Given the description of an element on the screen output the (x, y) to click on. 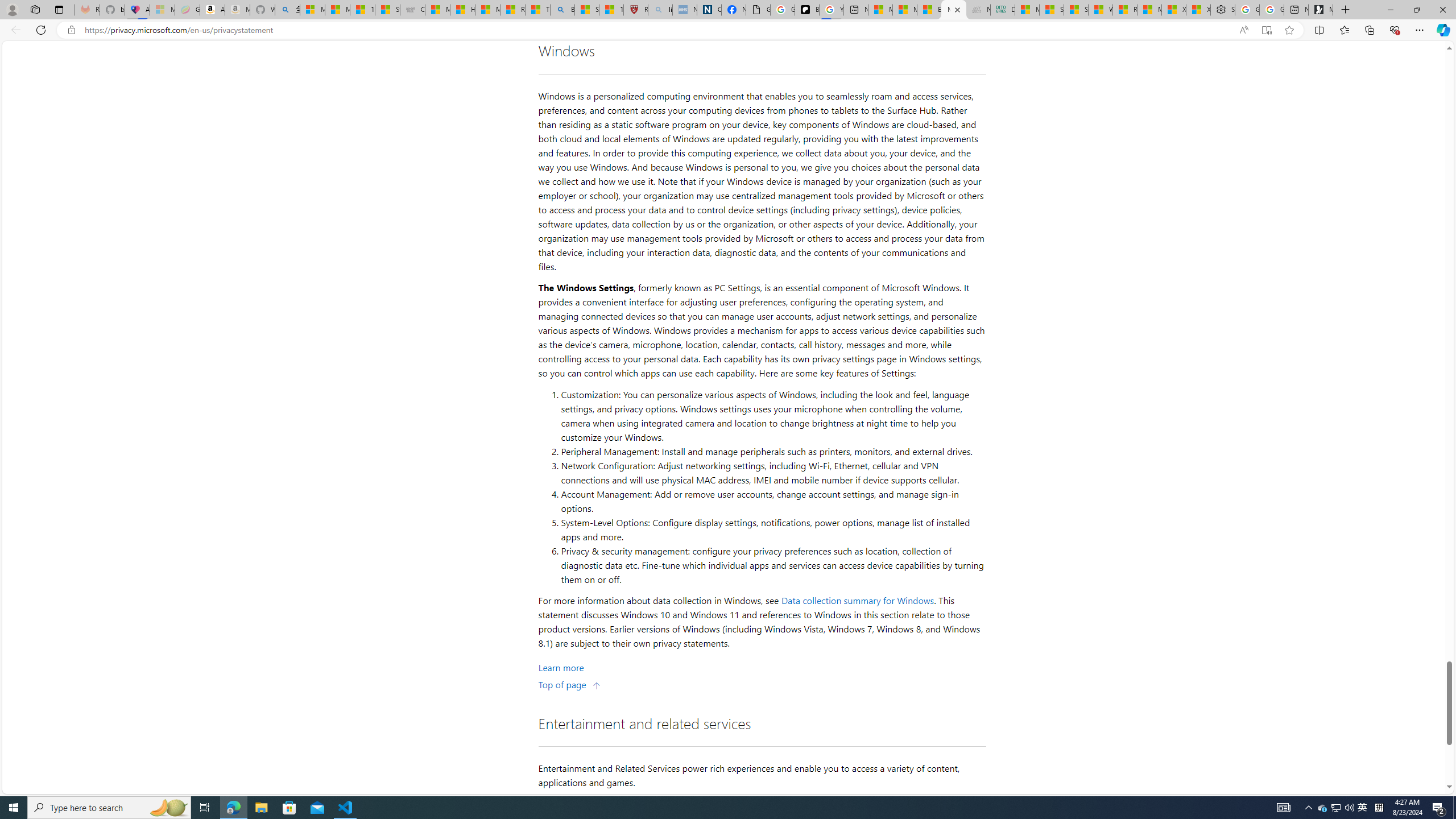
Google Analytics Opt-out Browser Add-on Download Page (757, 9)
Data collection summary for Windows (857, 600)
